Given the description of an element on the screen output the (x, y) to click on. 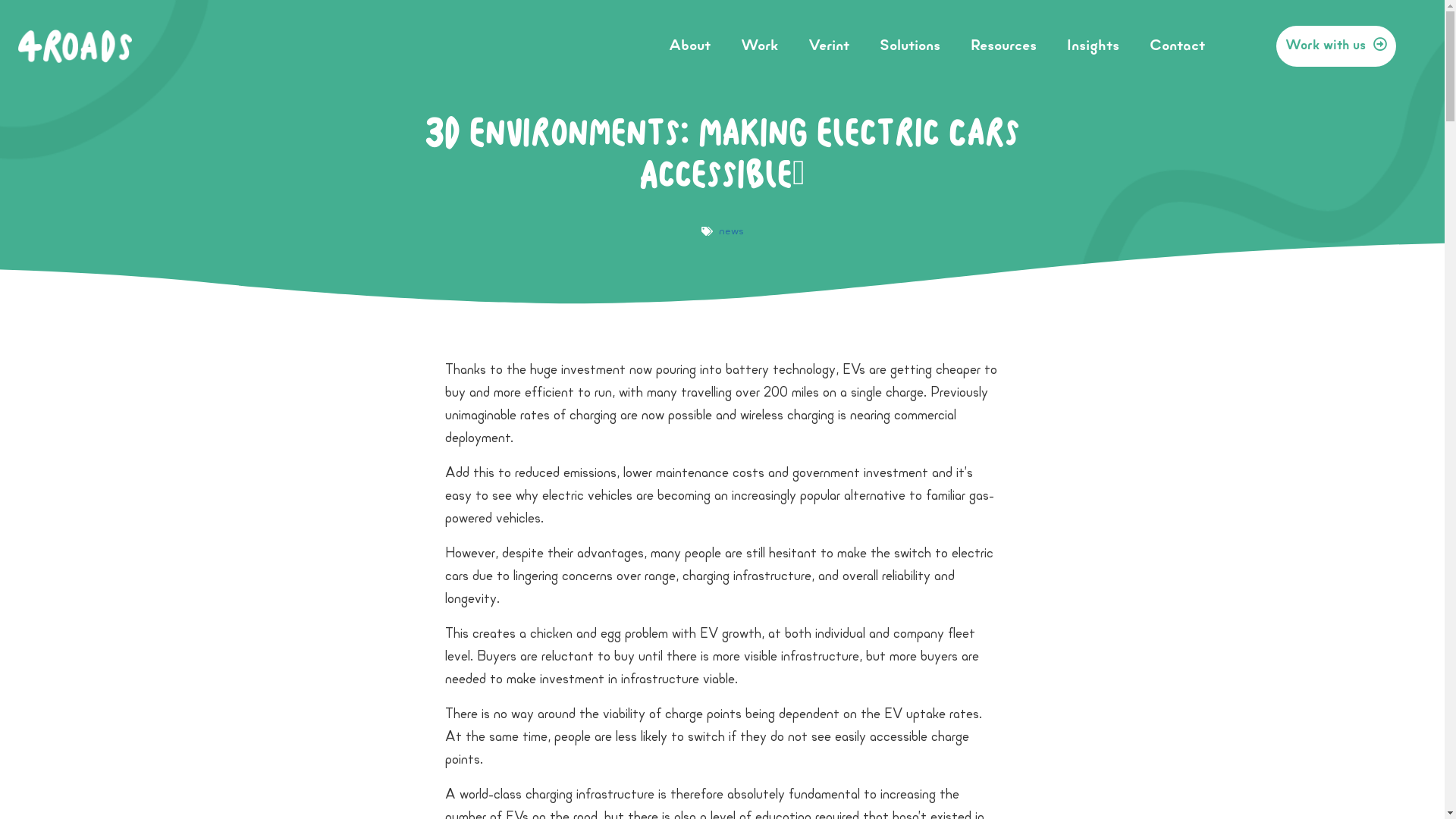
Verint Element type: text (828, 45)
Resources Element type: text (1003, 45)
About Element type: text (689, 45)
Insights Element type: text (1092, 45)
Solutions Element type: text (909, 45)
news Element type: text (730, 231)
Work Element type: text (759, 45)
Contact Element type: text (1177, 45)
Work with us Element type: text (1336, 45)
